Given the description of an element on the screen output the (x, y) to click on. 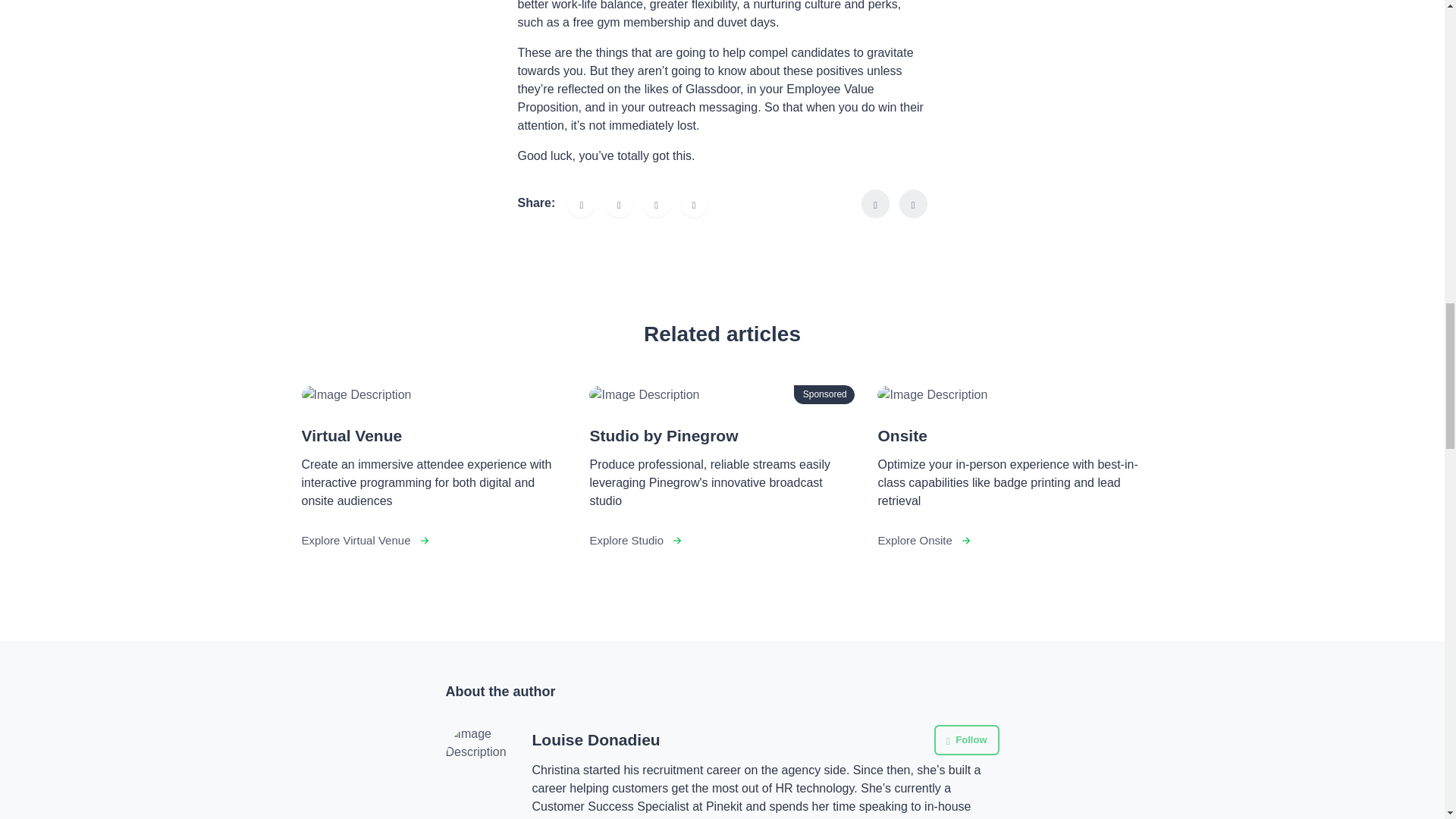
Follow (966, 739)
Louise Donadieu (596, 739)
